Given the description of an element on the screen output the (x, y) to click on. 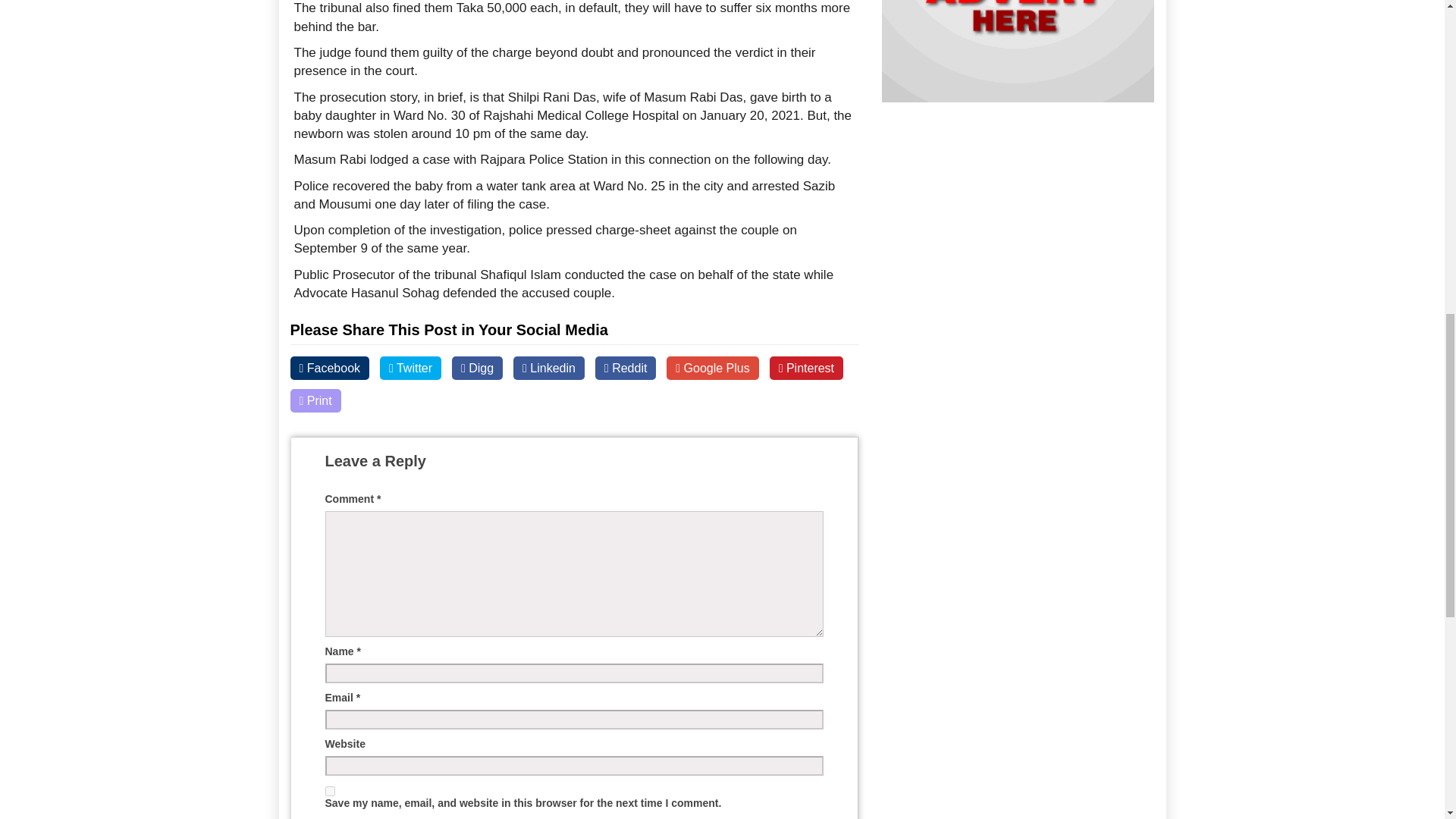
Twitter (410, 368)
Google Plus (712, 368)
Digg (476, 368)
Pinterest (806, 368)
Reddit (625, 368)
Print (314, 400)
Linkedin (549, 368)
yes (329, 791)
Facebook (329, 368)
